Given the description of an element on the screen output the (x, y) to click on. 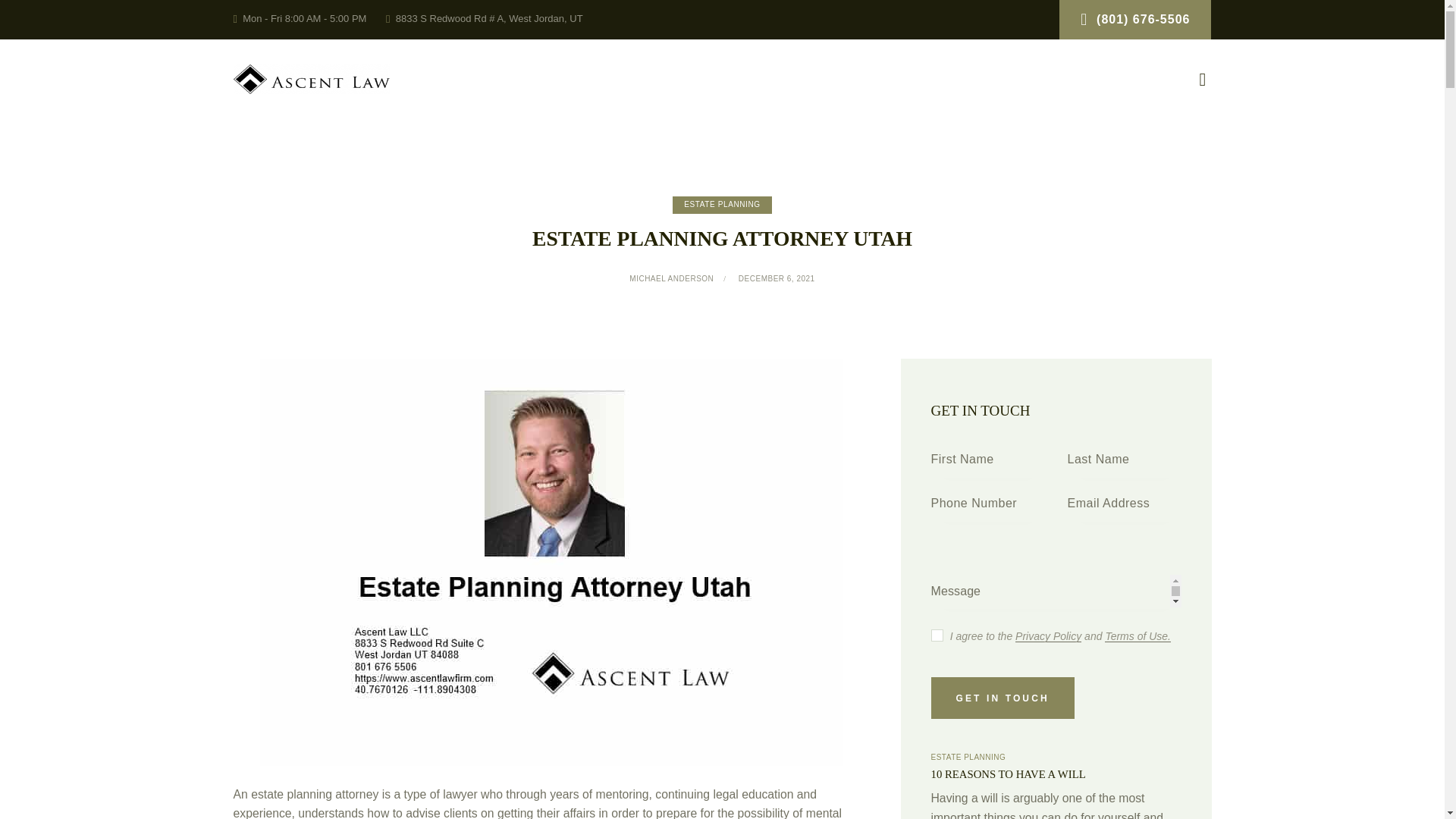
Get In Touch (1002, 698)
1 (935, 633)
